Given the description of an element on the screen output the (x, y) to click on. 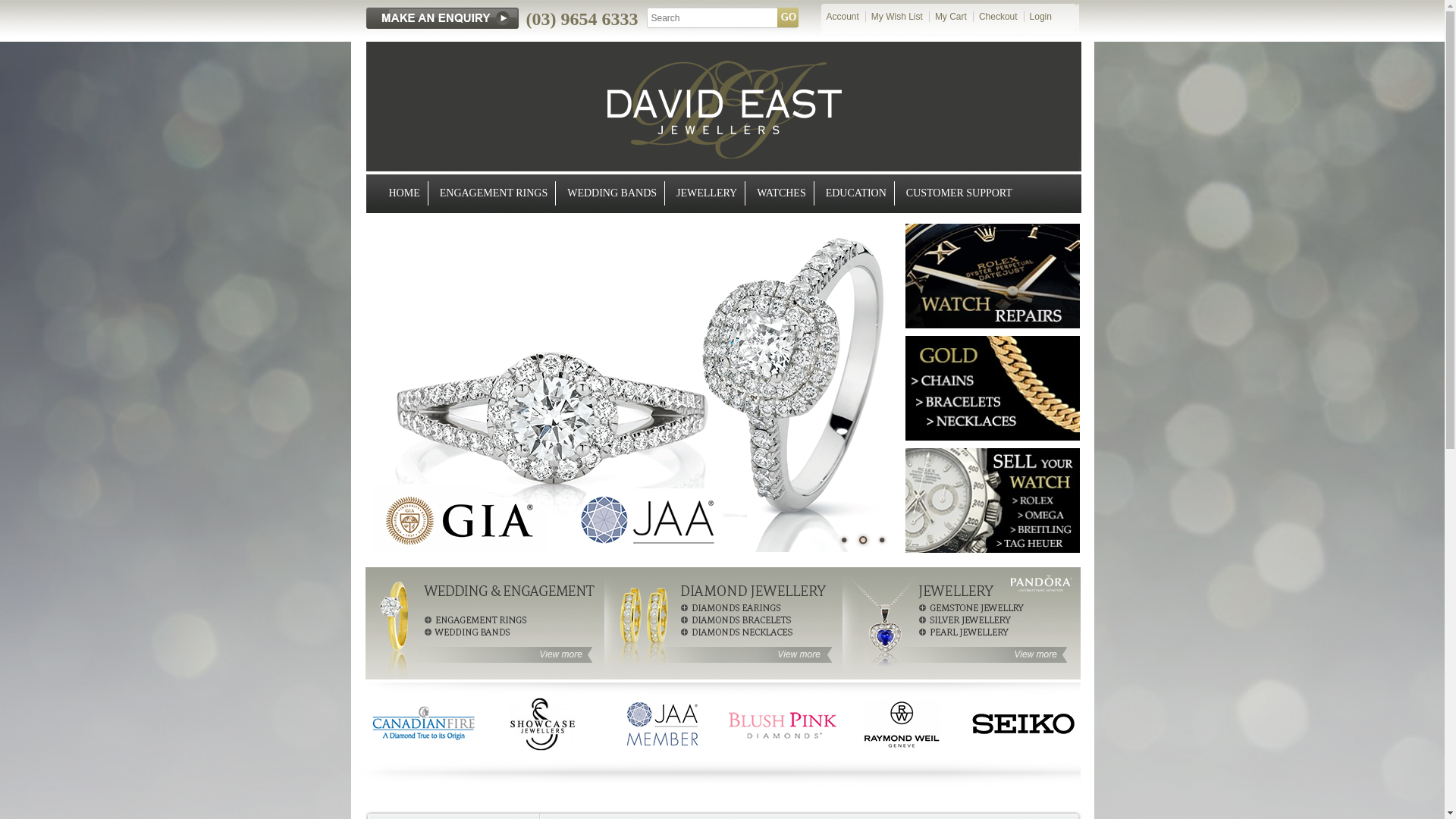
jaa Element type: hover (661, 723)
EDUCATION Element type: text (856, 193)
WEDDING BANDS Element type: text (612, 193)
ENGAGEMENT RINGS Element type: text (493, 193)
Seiko Element type: hover (1021, 723)
CUSTOMER SUPPORT Element type: text (958, 193)
Raymond Weil Element type: hover (901, 723)
Gold Chains & Bracelets Element type: hover (992, 388)
Swiss Watch Repairs Element type: hover (992, 275)
3 Element type: text (881, 539)
Login Element type: text (1037, 16)
Pink Blush Logo Element type: hover (781, 723)
Canadian Fire Element type: hover (422, 723)
Showcase Element type: hover (542, 723)
2 Element type: text (861, 539)
WATCHES Element type: text (781, 193)
HOME Element type: text (403, 193)
Checkout Element type: text (994, 16)
My Cart Element type: text (947, 16)
JEWELLERY Element type: text (706, 193)
1 Element type: text (843, 539)
My Wish List Element type: text (893, 16)
Sell your Rolex Watch Element type: hover (992, 500)
Account Element type: text (839, 16)
